Given the description of an element on the screen output the (x, y) to click on. 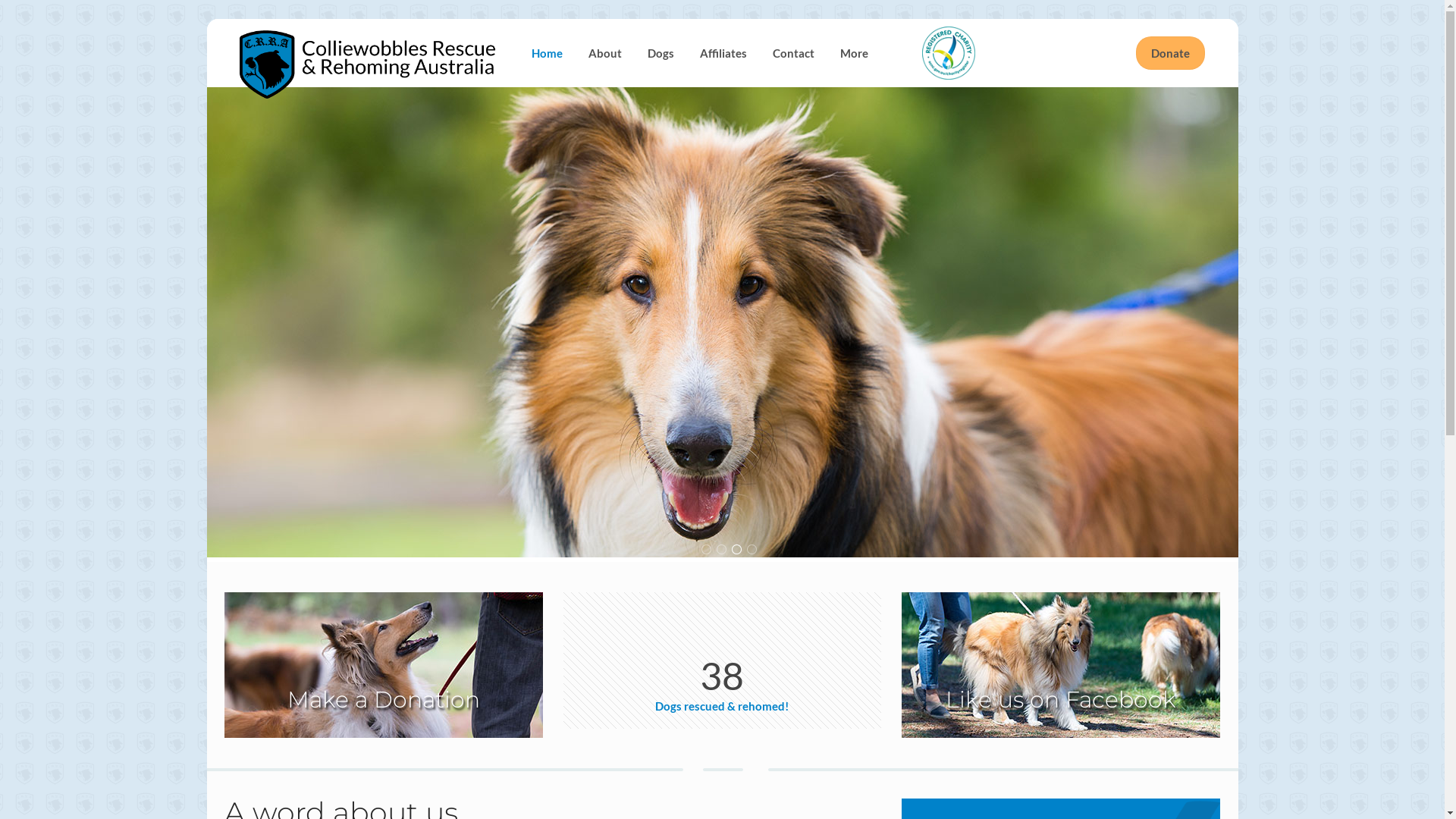
ACNC Registered Charity Tick Element type: hover (948, 52)
About Element type: text (605, 53)
Dogs Element type: text (660, 53)
Affiliates Element type: text (723, 53)
Donate Element type: text (1169, 52)
Rescue Toby Slide Element type: hover (721, 322)
More Element type: text (853, 53)
Like us on Facebook Element type: text (1060, 664)
Home Element type: text (547, 53)
Make a Donation Element type: text (383, 664)
Contact Element type: text (793, 53)
Colliewobbles Rescue & Rehoming Australia Element type: hover (367, 52)
